Given the description of an element on the screen output the (x, y) to click on. 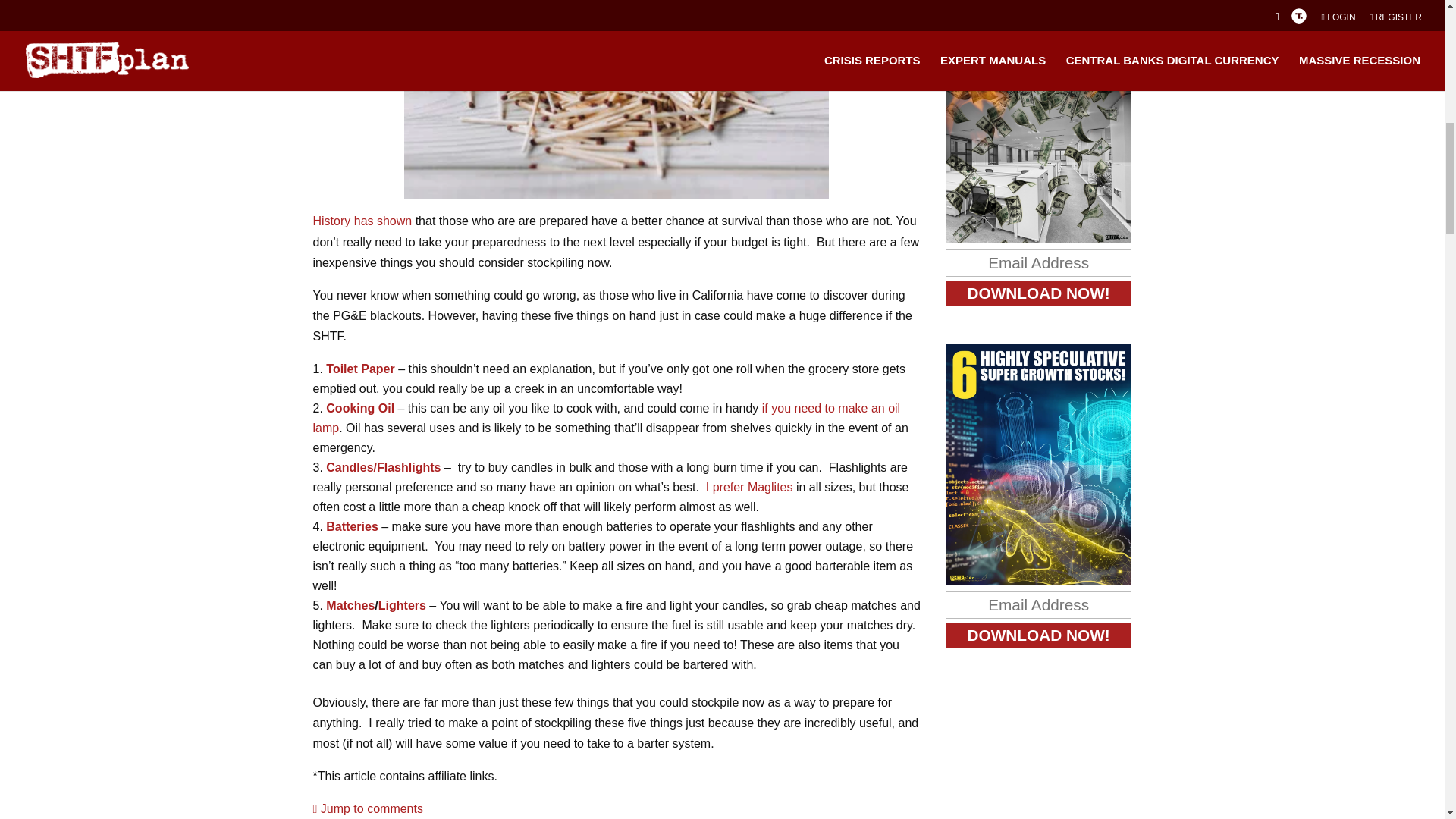
Batteries (353, 526)
Toilet Paper (361, 368)
Download Now! (1038, 293)
Matches (350, 604)
I prefer Maglites (746, 486)
Flashlights (409, 467)
Lighters (402, 604)
History has shown (362, 220)
Cooking Oil (360, 408)
Jump to comments (367, 808)
if you need to make an oil lamp (606, 418)
Download Now! (1038, 635)
